Given the description of an element on the screen output the (x, y) to click on. 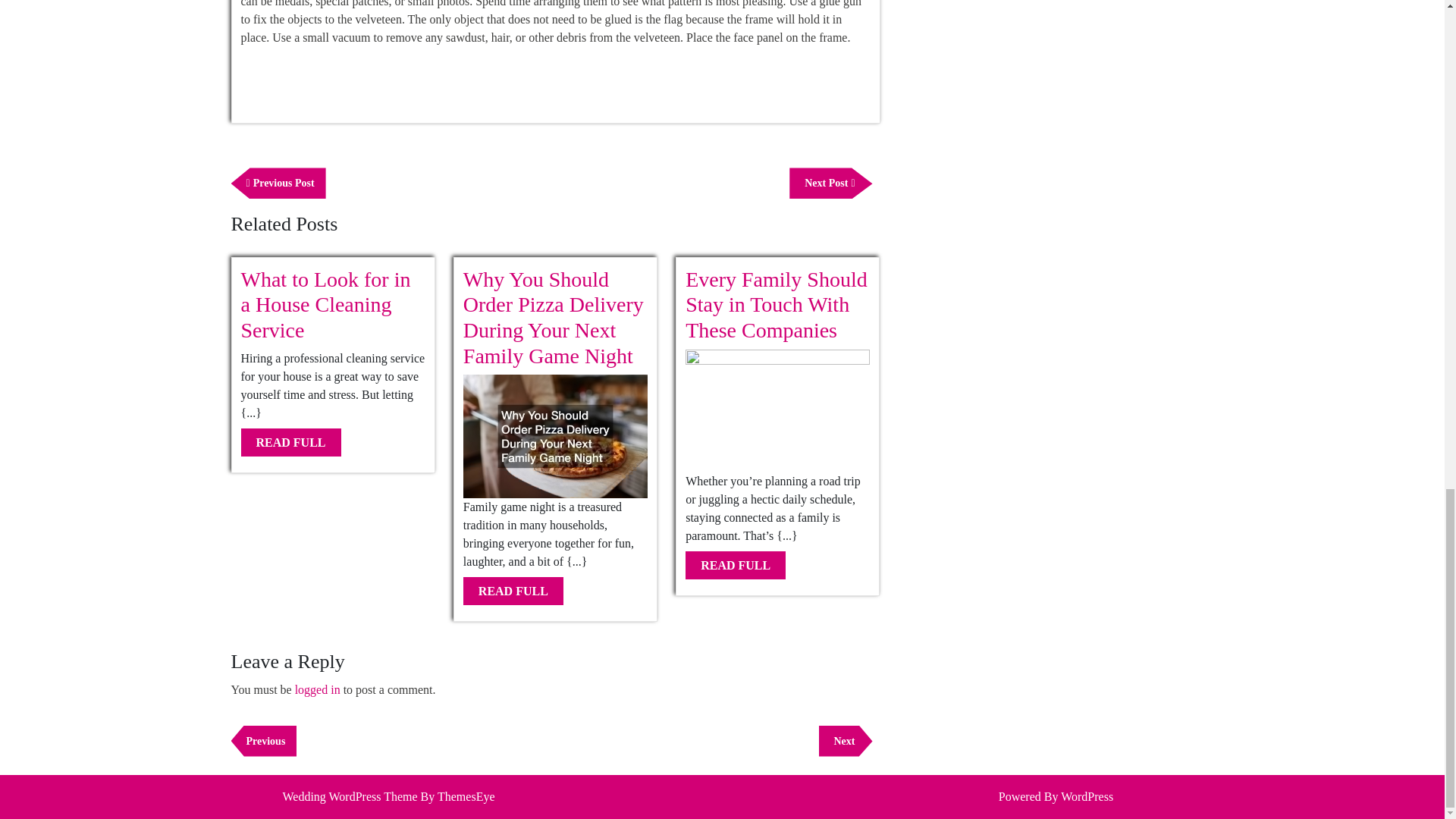
Read Full (735, 565)
logged in (317, 689)
Read Full (290, 442)
Read Full (513, 591)
What to Look for in a House Cleaning Service (263, 740)
Wedding WordPress Theme (290, 442)
Every Family Should Stay in Touch With These Companies (325, 304)
